Given the description of an element on the screen output the (x, y) to click on. 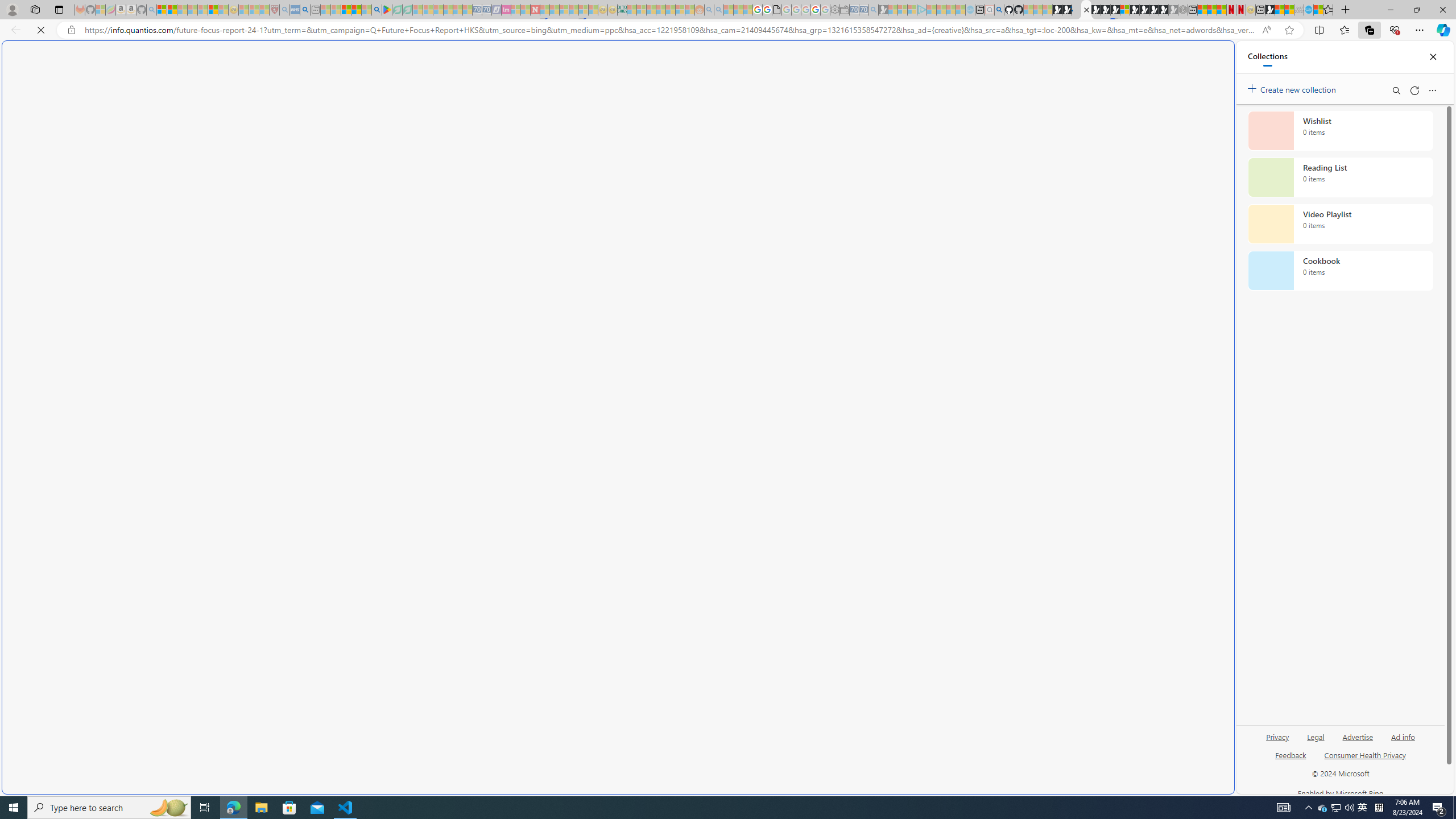
Tabs you've opened (885, 151)
Wishlist collection, 0 items (1339, 130)
Pets - MSN (356, 9)
